Given the description of an element on the screen output the (x, y) to click on. 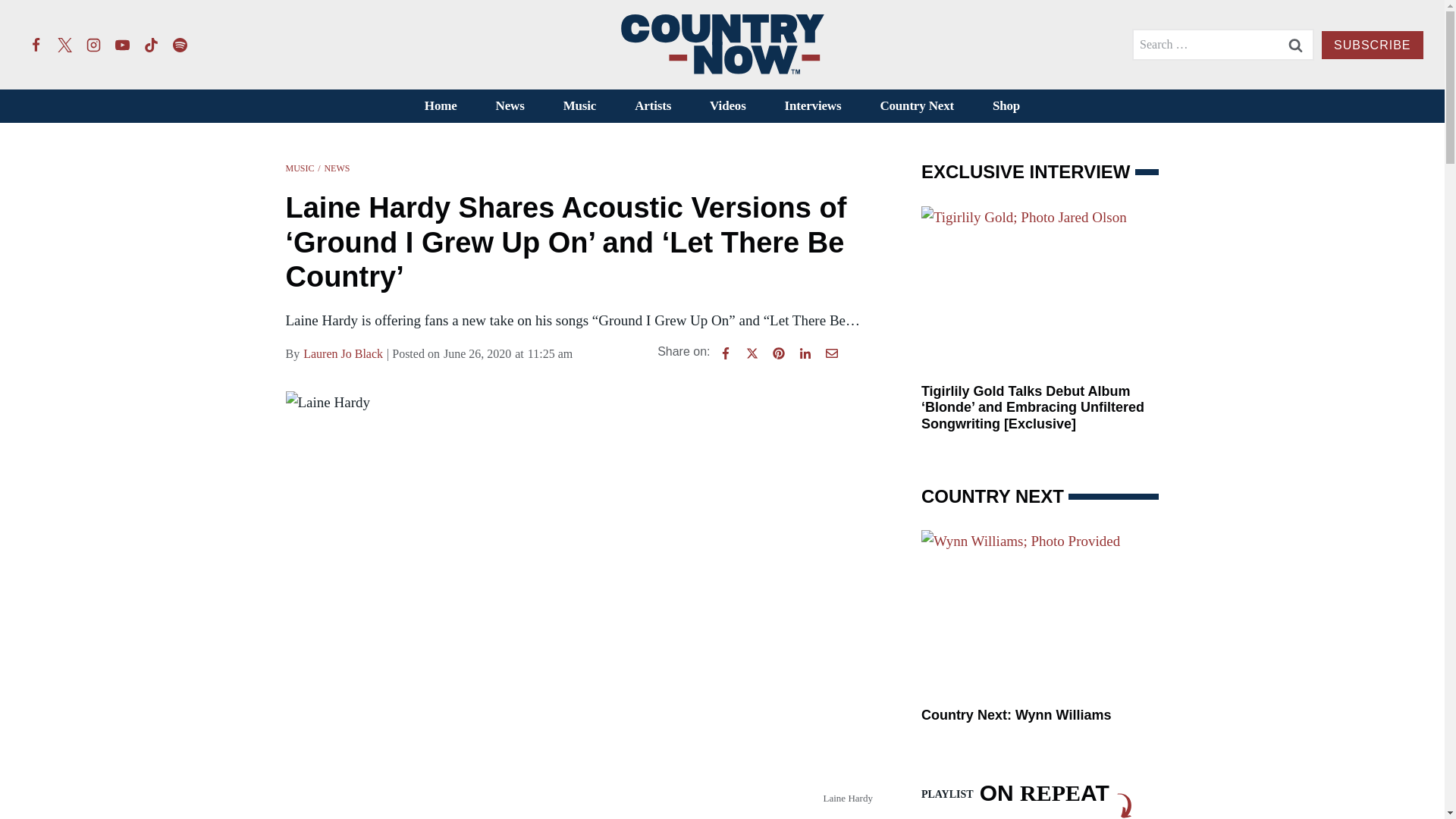
Lauren Jo Black (342, 353)
NEWS (336, 167)
Search (1295, 44)
Shop (1005, 105)
Search (1295, 44)
Country Next (917, 105)
SUBSCRIBE (1372, 44)
Music (579, 105)
Home (440, 105)
Search (1295, 44)
Videos (727, 105)
Interviews (812, 105)
Artists (652, 105)
MUSIC (299, 167)
News (509, 105)
